Given the description of an element on the screen output the (x, y) to click on. 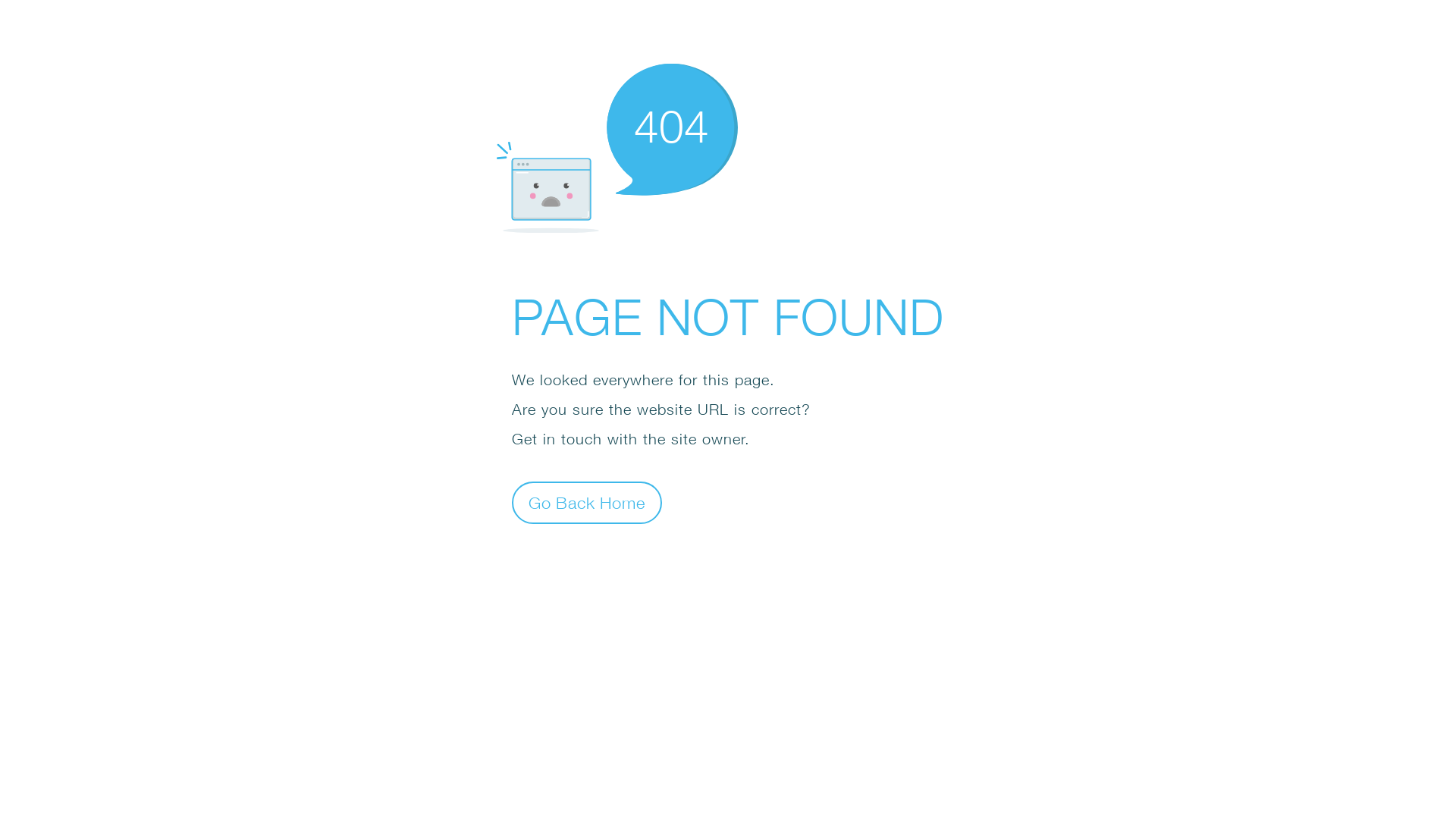
Go Back Home Element type: text (586, 502)
